Given the description of an element on the screen output the (x, y) to click on. 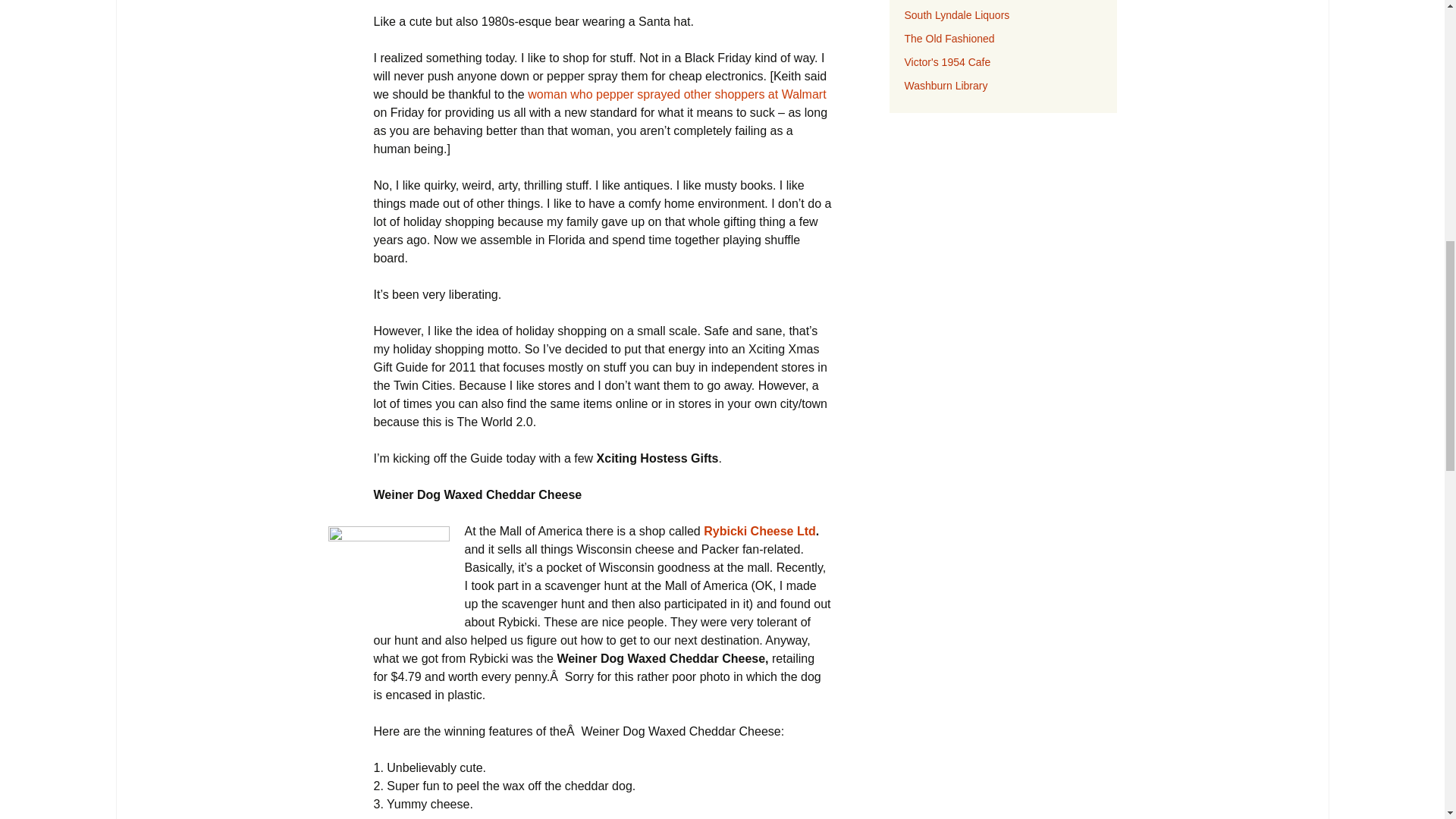
weinerdog cheese (387, 571)
woman who pepper sprayed other shoppers at Walmart (676, 93)
Rybicki Cheese Ltd (759, 530)
